Given the description of an element on the screen output the (x, y) to click on. 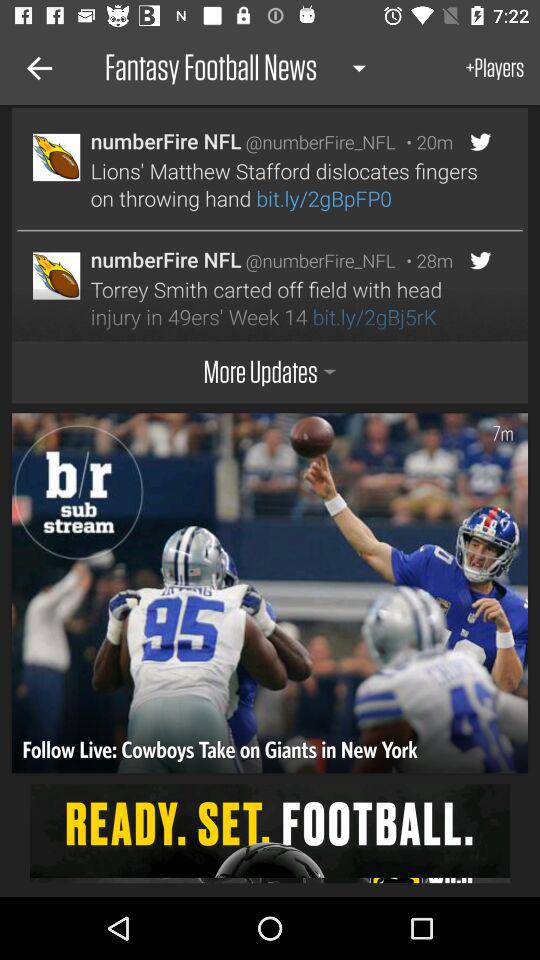
turn on icon below the numberfire nfl (287, 184)
